Given the description of an element on the screen output the (x, y) to click on. 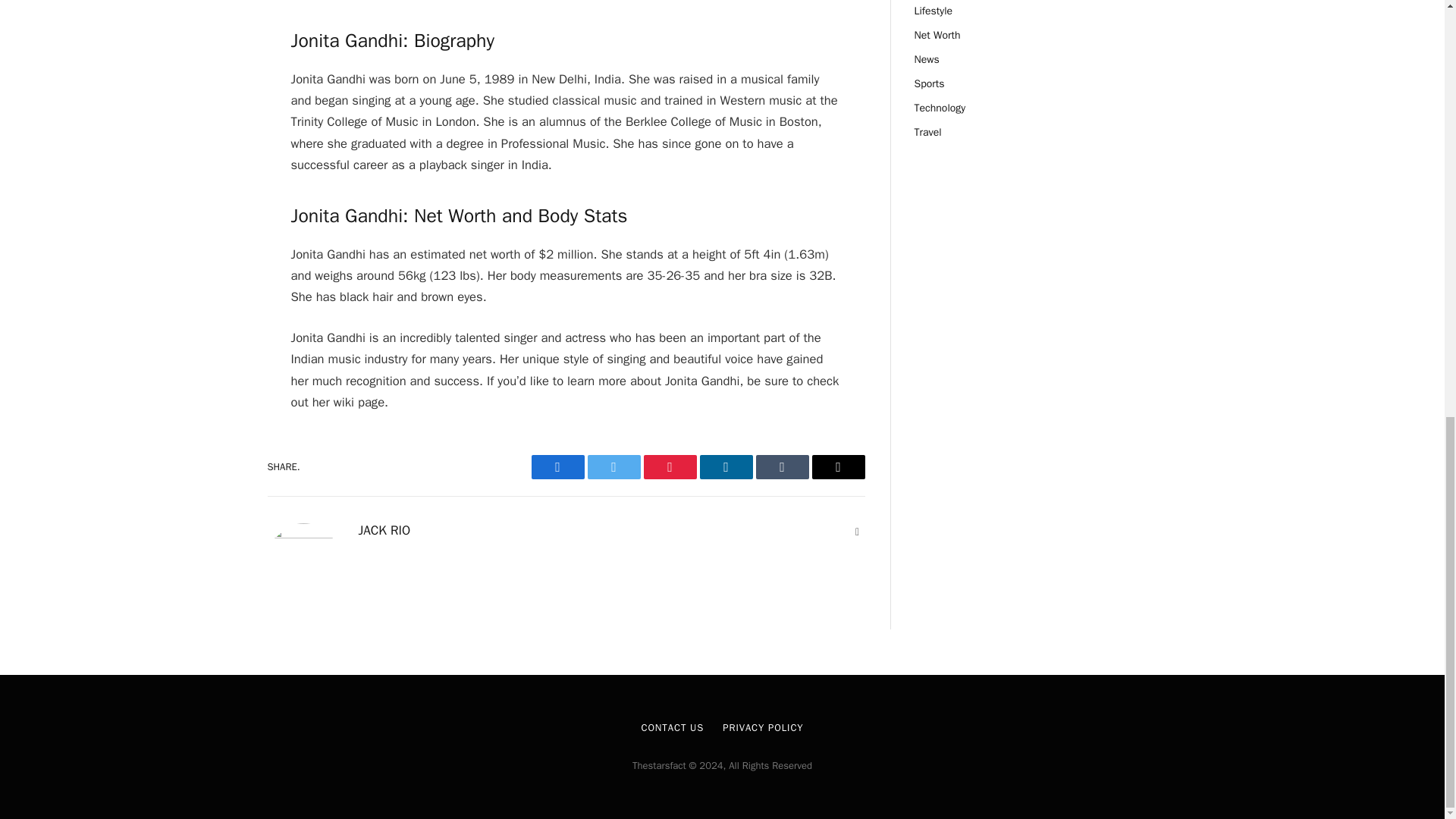
Pinterest (669, 467)
Facebook (557, 467)
Twitter (613, 467)
LinkedIn (725, 467)
